Given the description of an element on the screen output the (x, y) to click on. 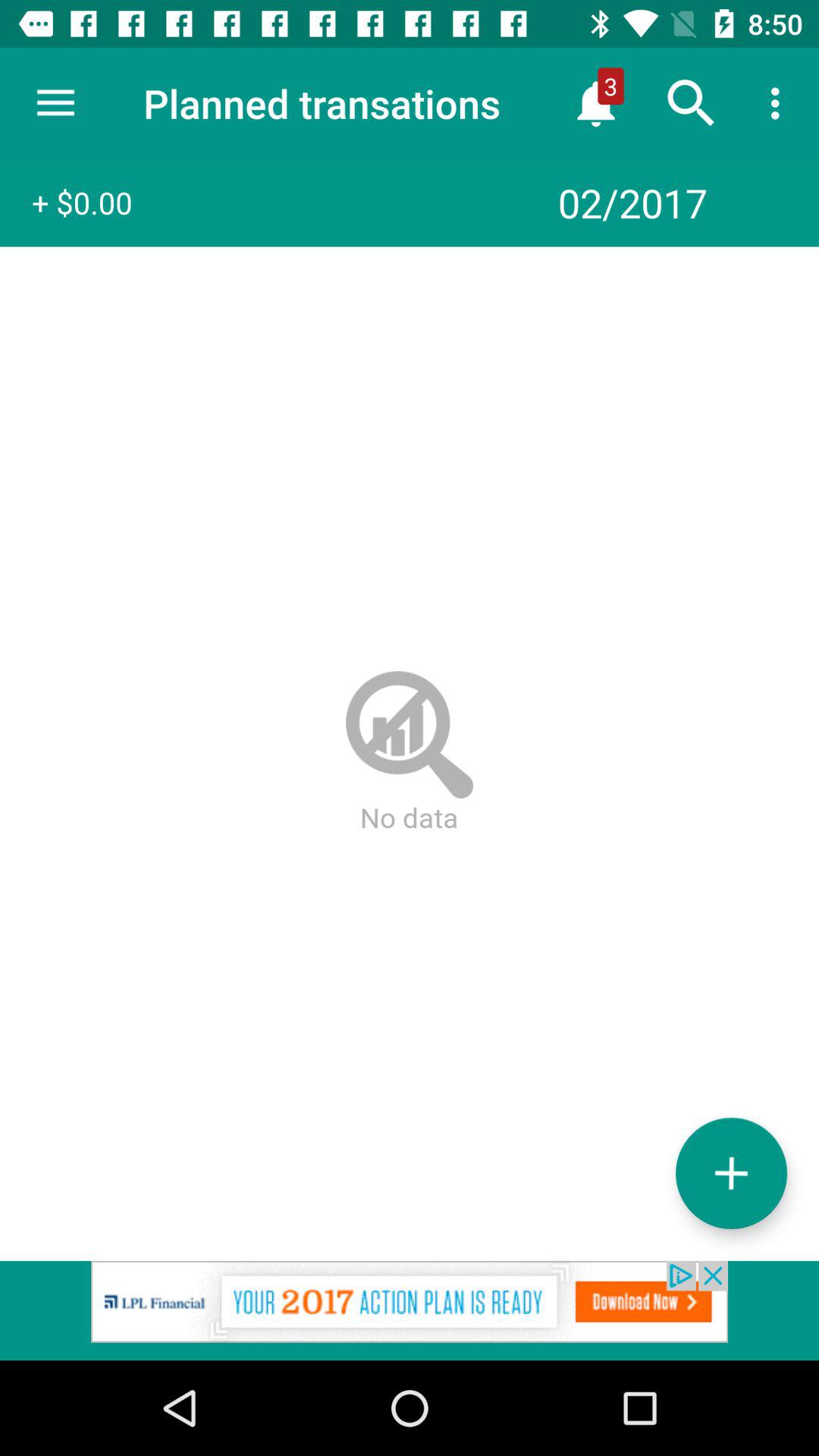
advertisement image (409, 1310)
